Given the description of an element on the screen output the (x, y) to click on. 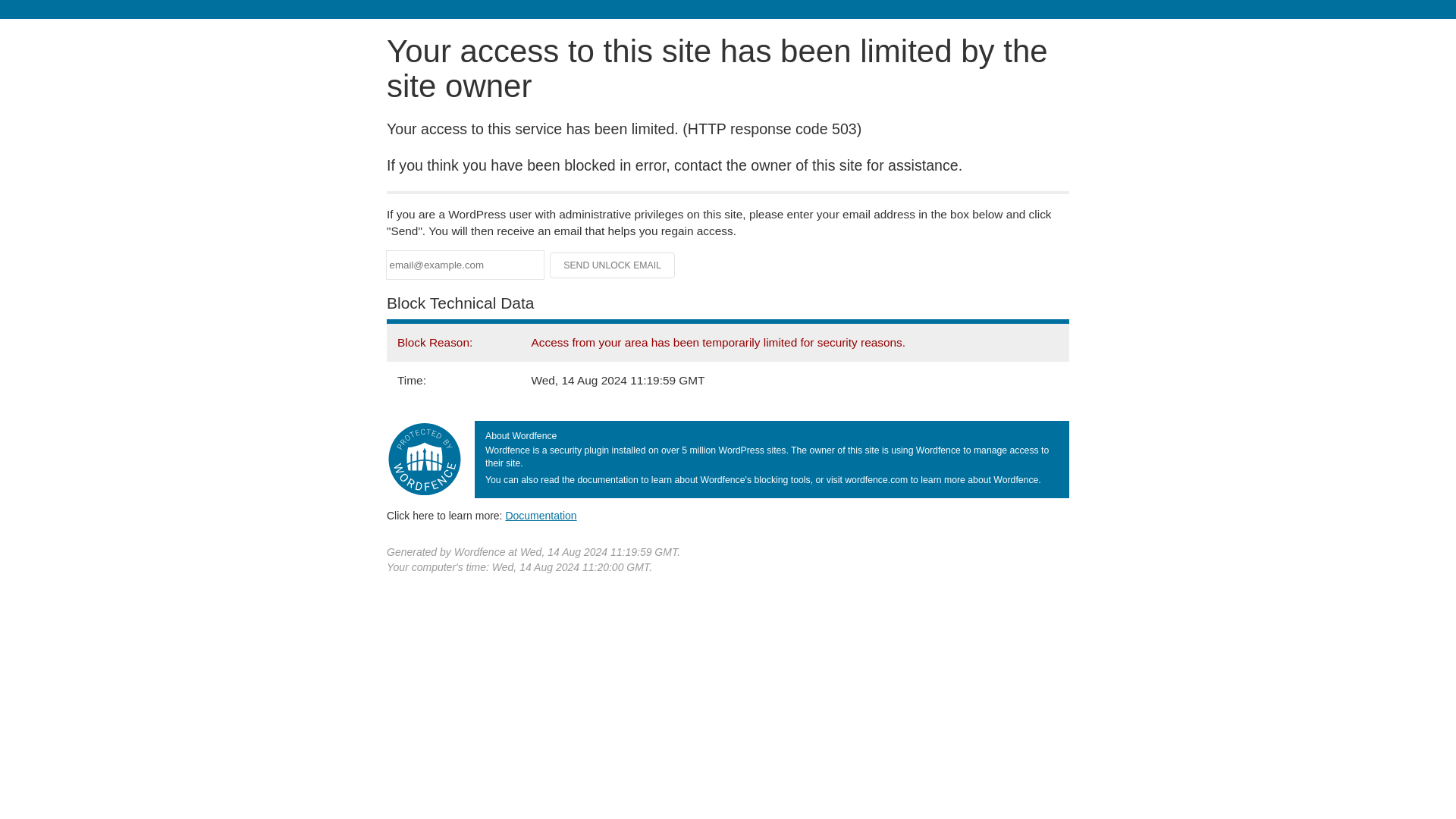
Send Unlock Email (612, 265)
Send Unlock Email (612, 265)
Documentation (540, 515)
